Given the description of an element on the screen output the (x, y) to click on. 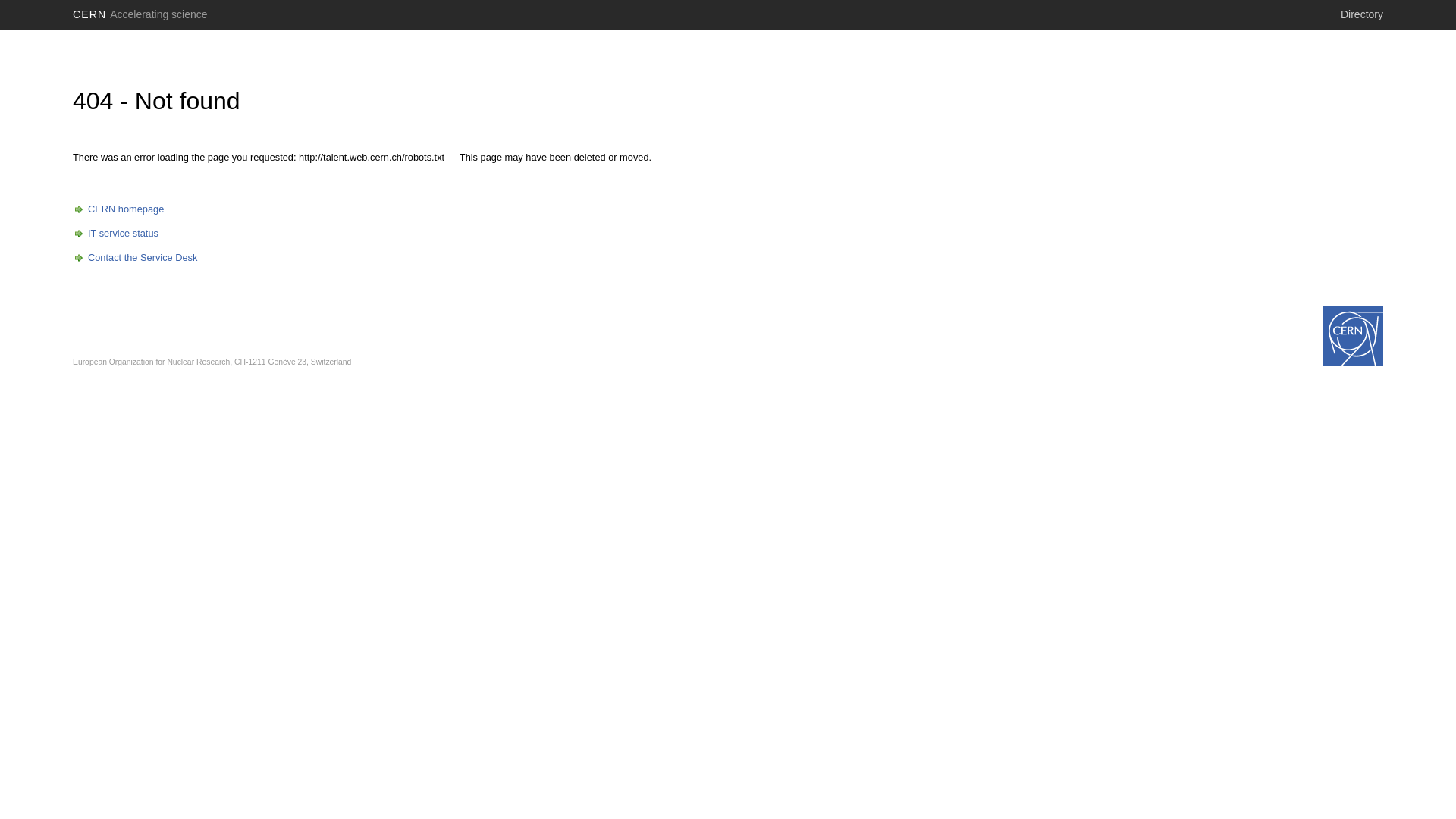
CERN Accelerating science Element type: text (139, 14)
Directory Element type: text (1361, 14)
CERN homepage Element type: text (117, 208)
Contact the Service Desk Element type: text (134, 257)
home.cern Element type: hover (1352, 335)
IT service status Element type: text (115, 232)
